Given the description of an element on the screen output the (x, y) to click on. 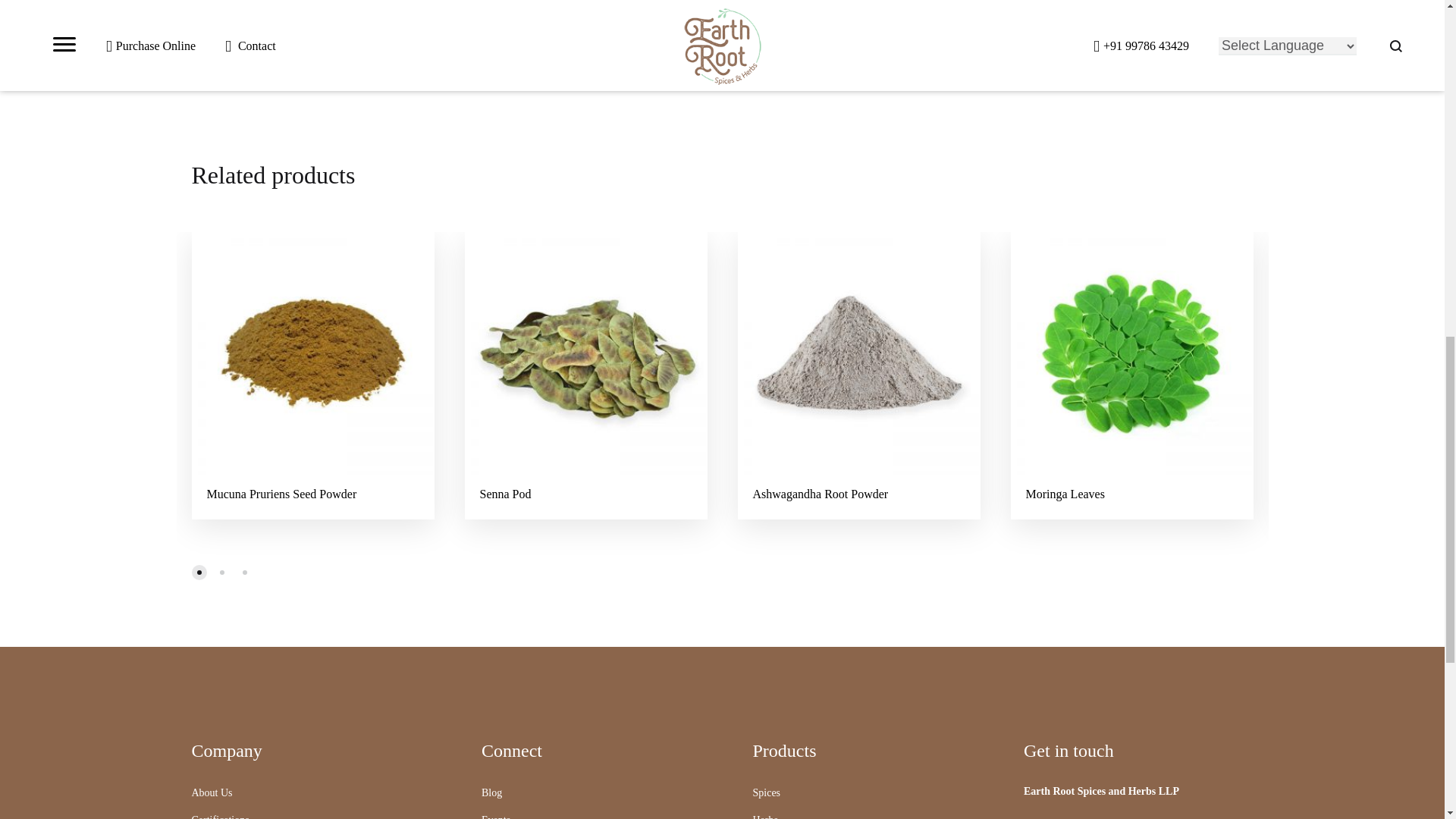
Mucuna Pruriens Seed Powder (281, 493)
Senna Pod (505, 493)
